Given the description of an element on the screen output the (x, y) to click on. 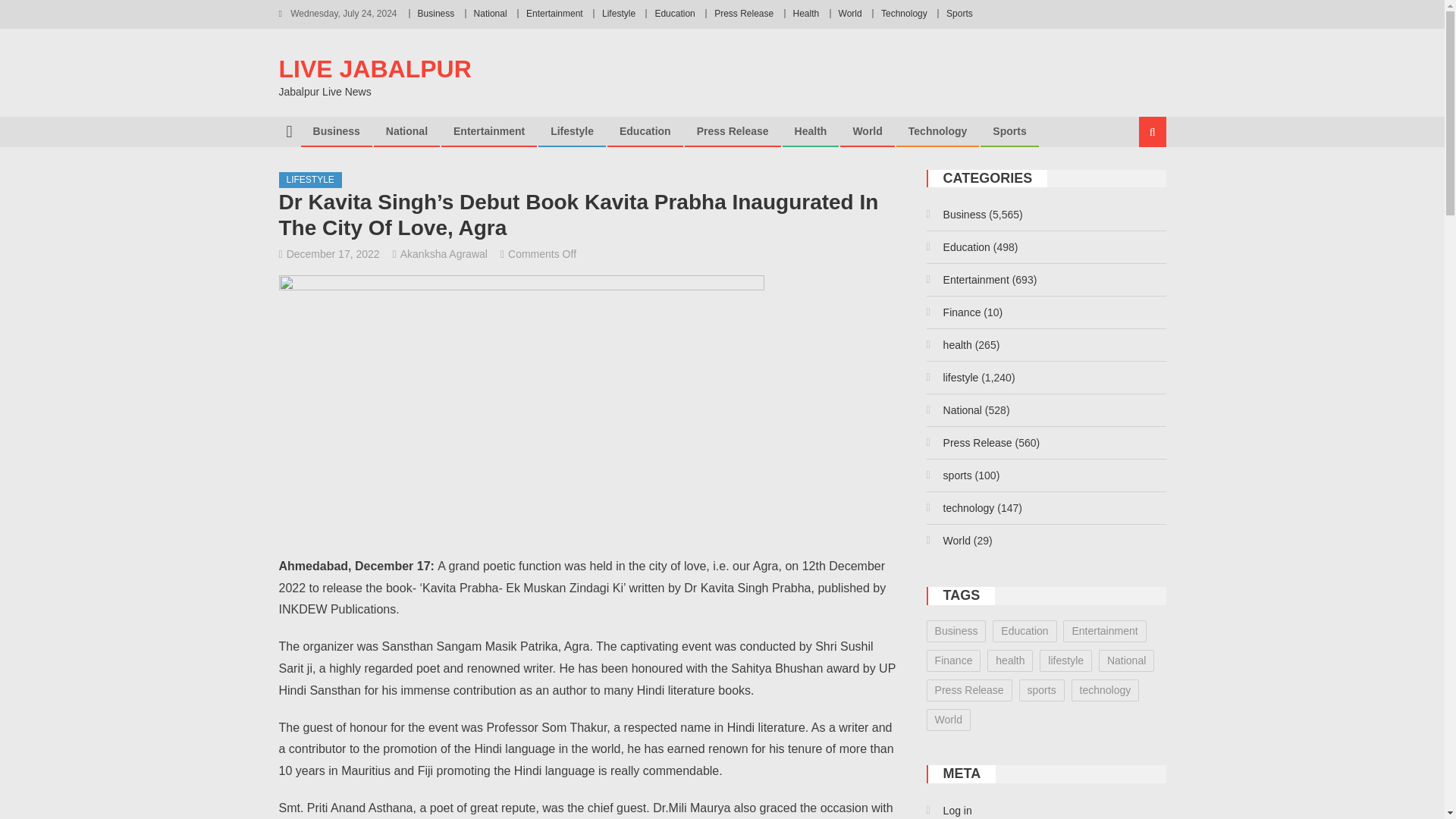
Entertainment (554, 13)
Technology (937, 131)
Akanksha Agrawal (443, 254)
World (849, 13)
Education (645, 131)
National (490, 13)
Search (1133, 182)
Lifestyle (571, 131)
Business (435, 13)
Technology (903, 13)
National (406, 131)
World (867, 131)
Press Release (743, 13)
Health (806, 13)
Entertainment (488, 131)
